Given the description of an element on the screen output the (x, y) to click on. 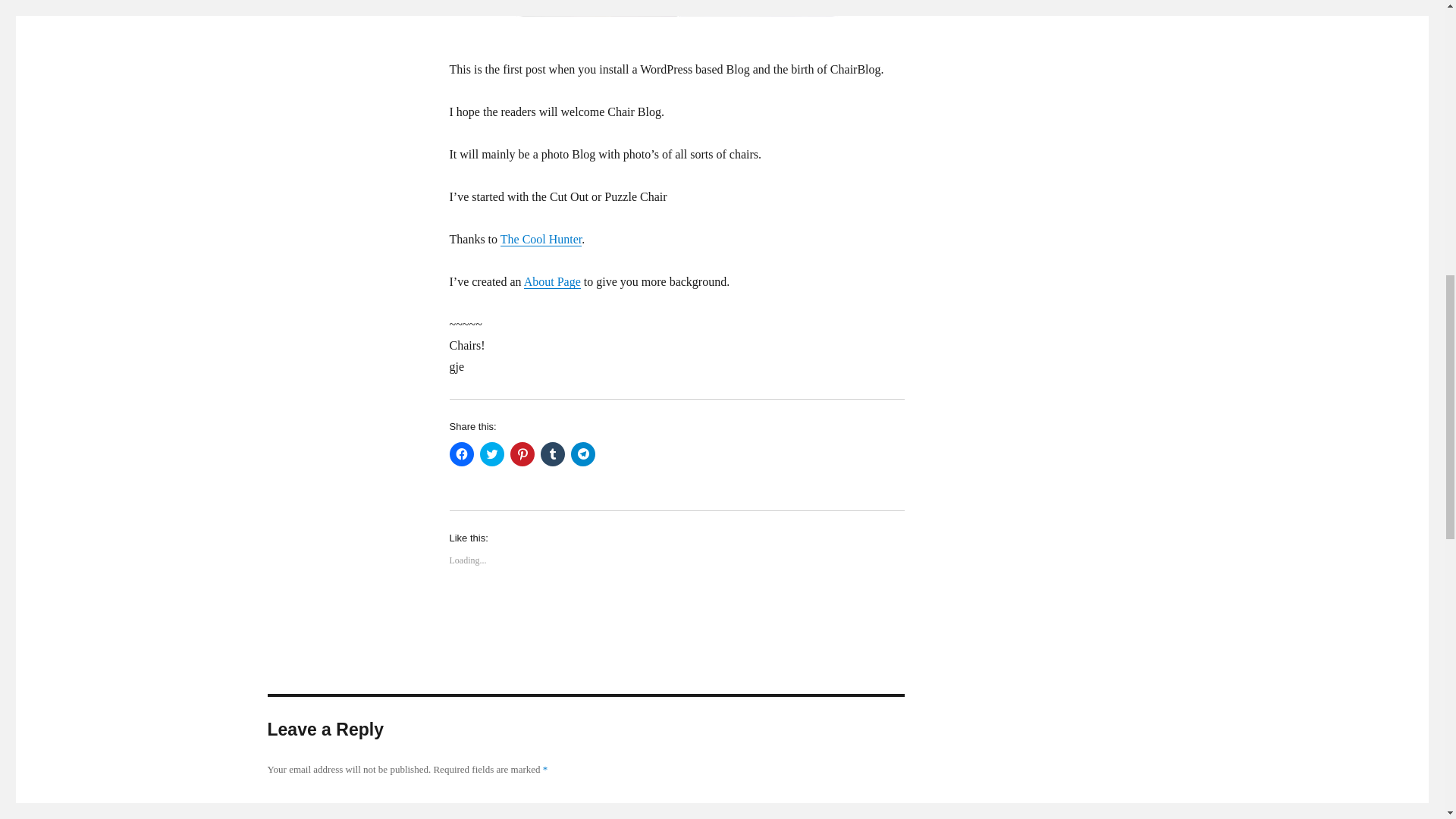
Click to share on Twitter (491, 454)
Click to share on Pinterest (521, 454)
About Page (552, 281)
The Cool Hunter (541, 238)
Click to share on Facebook (460, 454)
Click to share on Telegram (582, 454)
Click to share on Tumblr (552, 454)
